Given the description of an element on the screen output the (x, y) to click on. 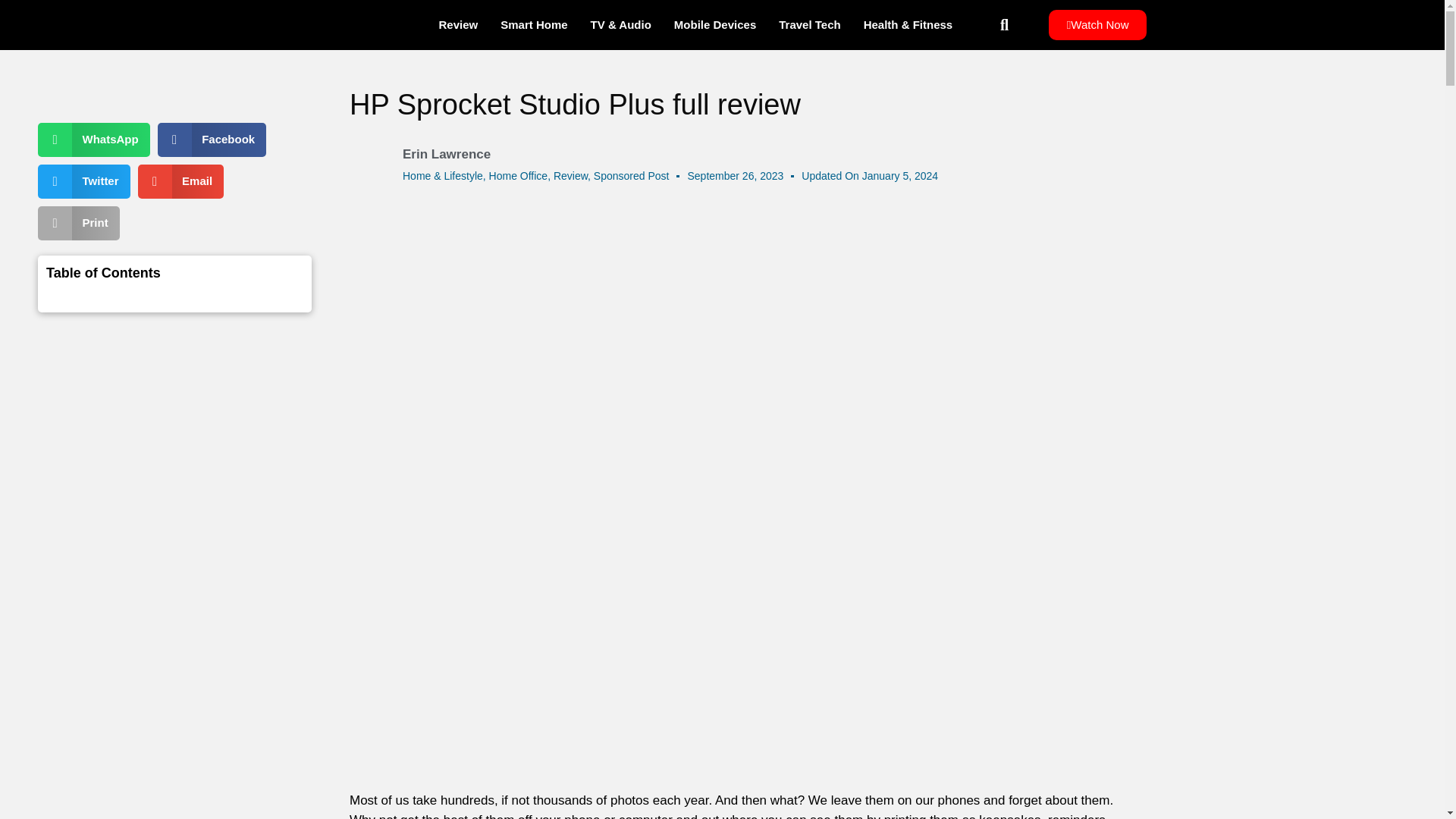
Travel Tech (809, 24)
Mobile Devices (714, 24)
September 26, 2023 (735, 176)
Review (458, 24)
Home Office (518, 175)
Sponsored Post (631, 175)
Smart Home (533, 24)
Watch Now (1097, 24)
Review (570, 175)
